Given the description of an element on the screen output the (x, y) to click on. 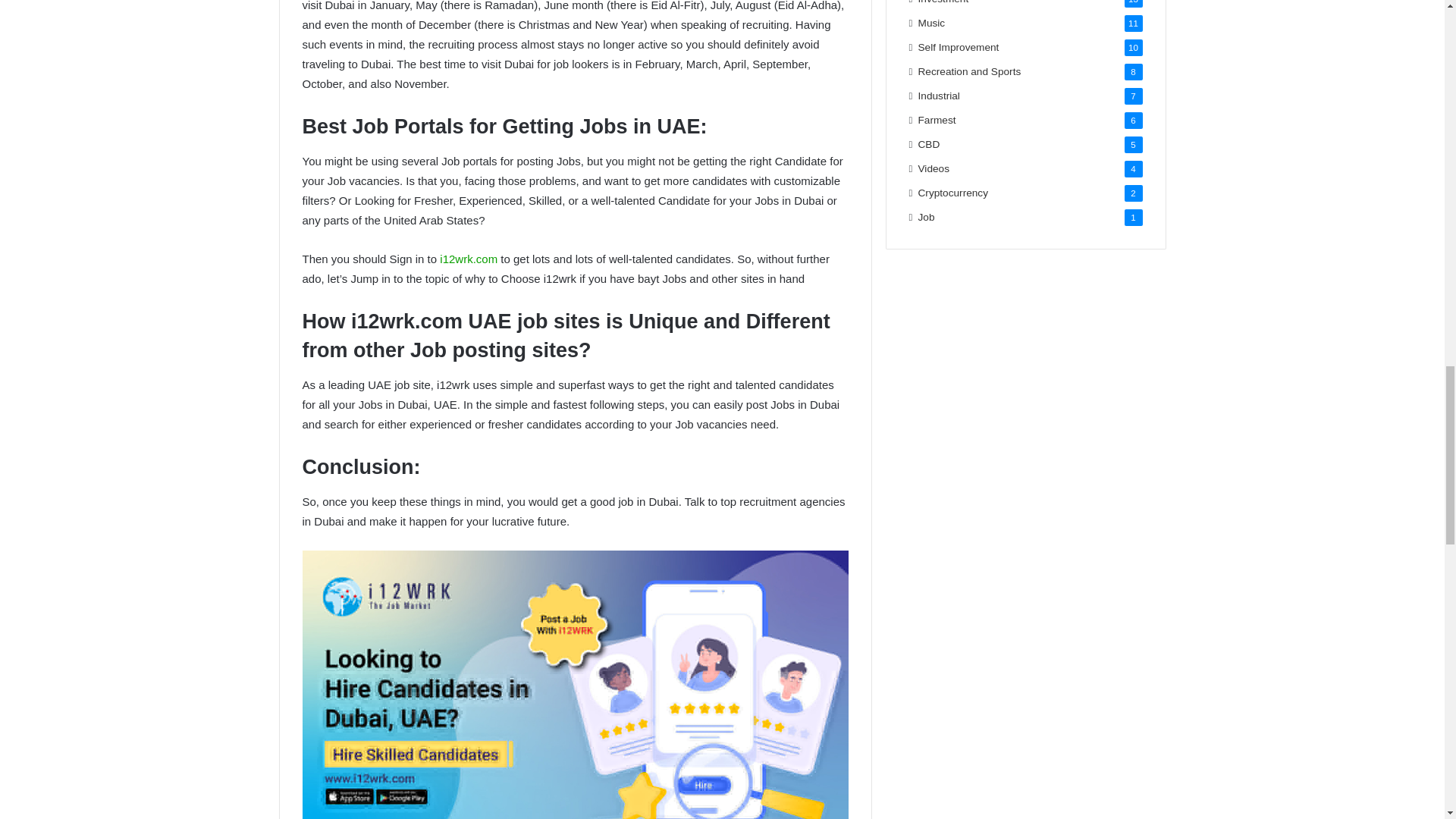
i12wrk.com (468, 258)
